Given the description of an element on the screen output the (x, y) to click on. 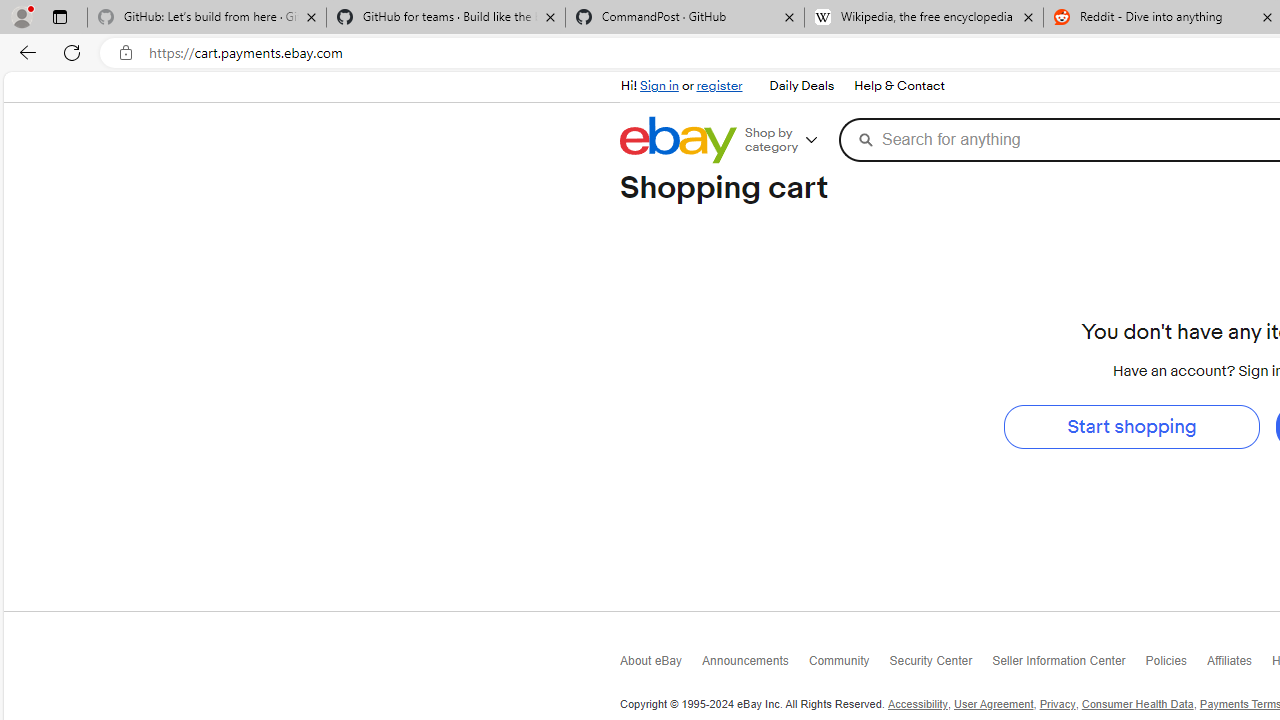
Announcements (754, 665)
About eBay (660, 664)
Accessibility (917, 704)
Security Center (941, 664)
Seller Information Center (1068, 664)
Privacy (1057, 704)
Community (848, 665)
